Given the description of an element on the screen output the (x, y) to click on. 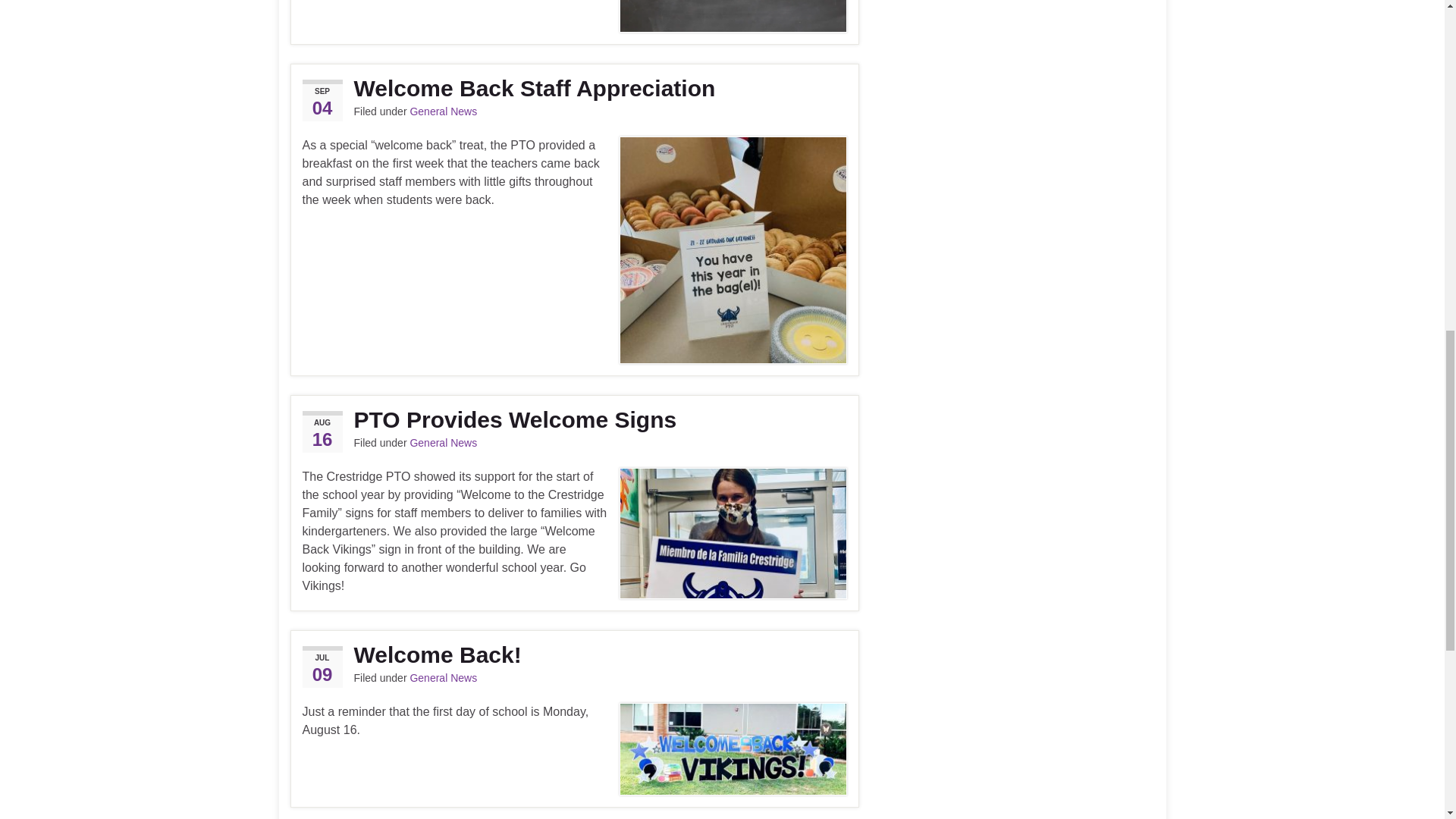
General News (443, 677)
General News (443, 442)
PTO Provides Welcome Signs (573, 420)
Permalink to Welcome Back Staff Appreciation (573, 88)
Welcome Back! (573, 654)
Permalink to Welcome Back! (573, 654)
General News (443, 111)
Permalink to PTO Provides Welcome Signs (573, 420)
Welcome Back Staff Appreciation (573, 88)
